Given the description of an element on the screen output the (x, y) to click on. 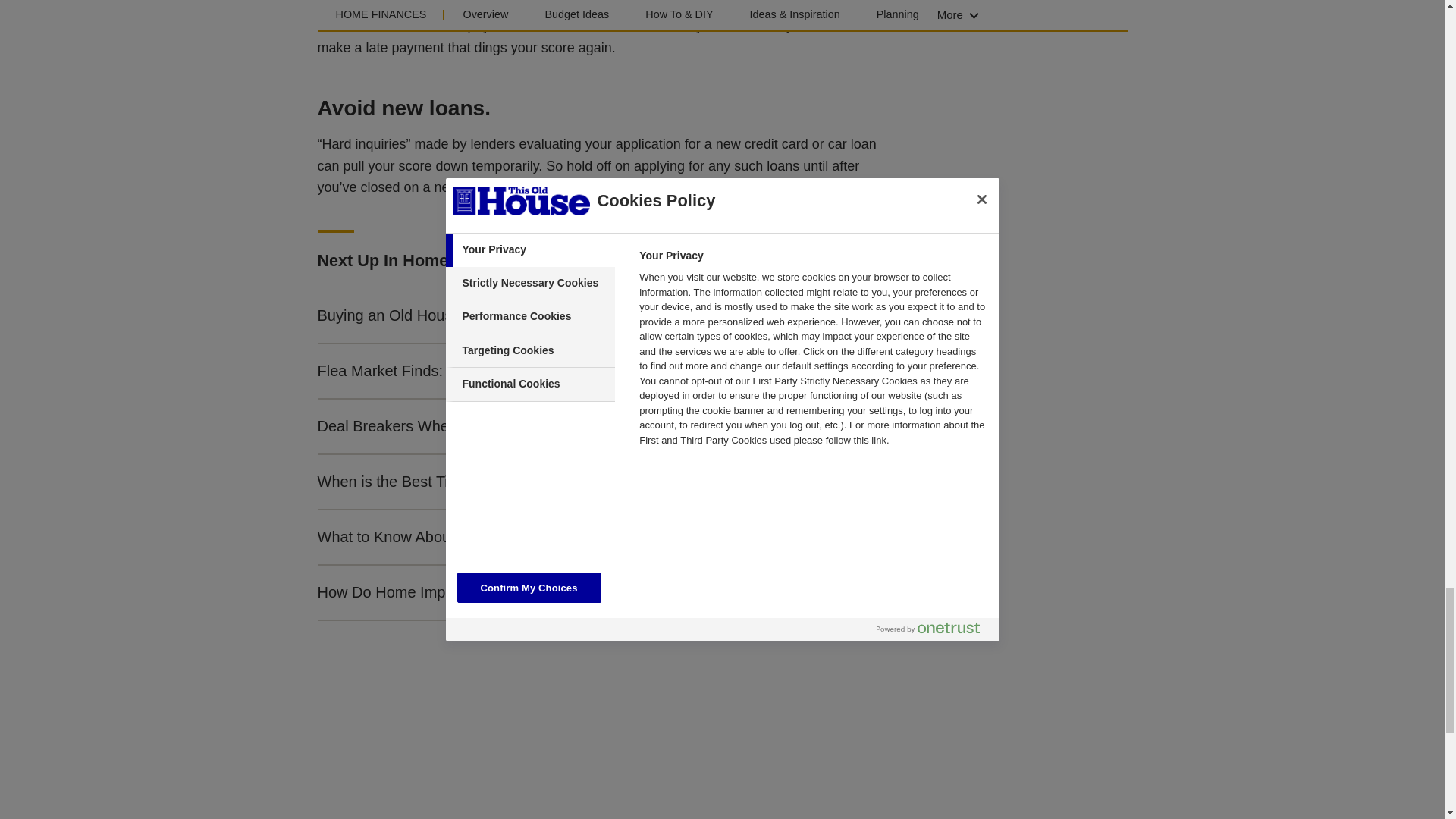
3rd party ad content (734, 754)
